Given the description of an element on the screen output the (x, y) to click on. 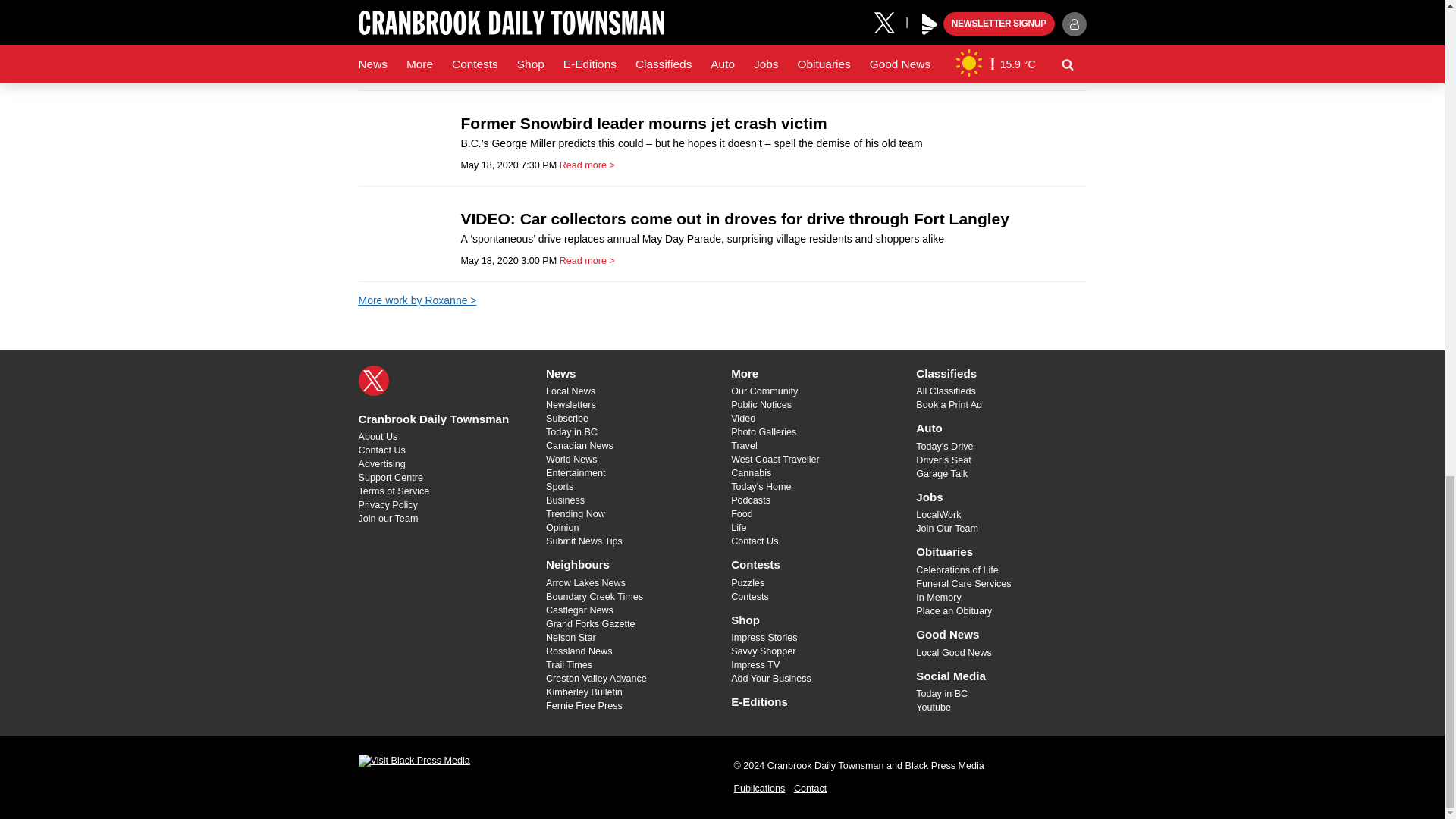
X (373, 380)
